Given the description of an element on the screen output the (x, y) to click on. 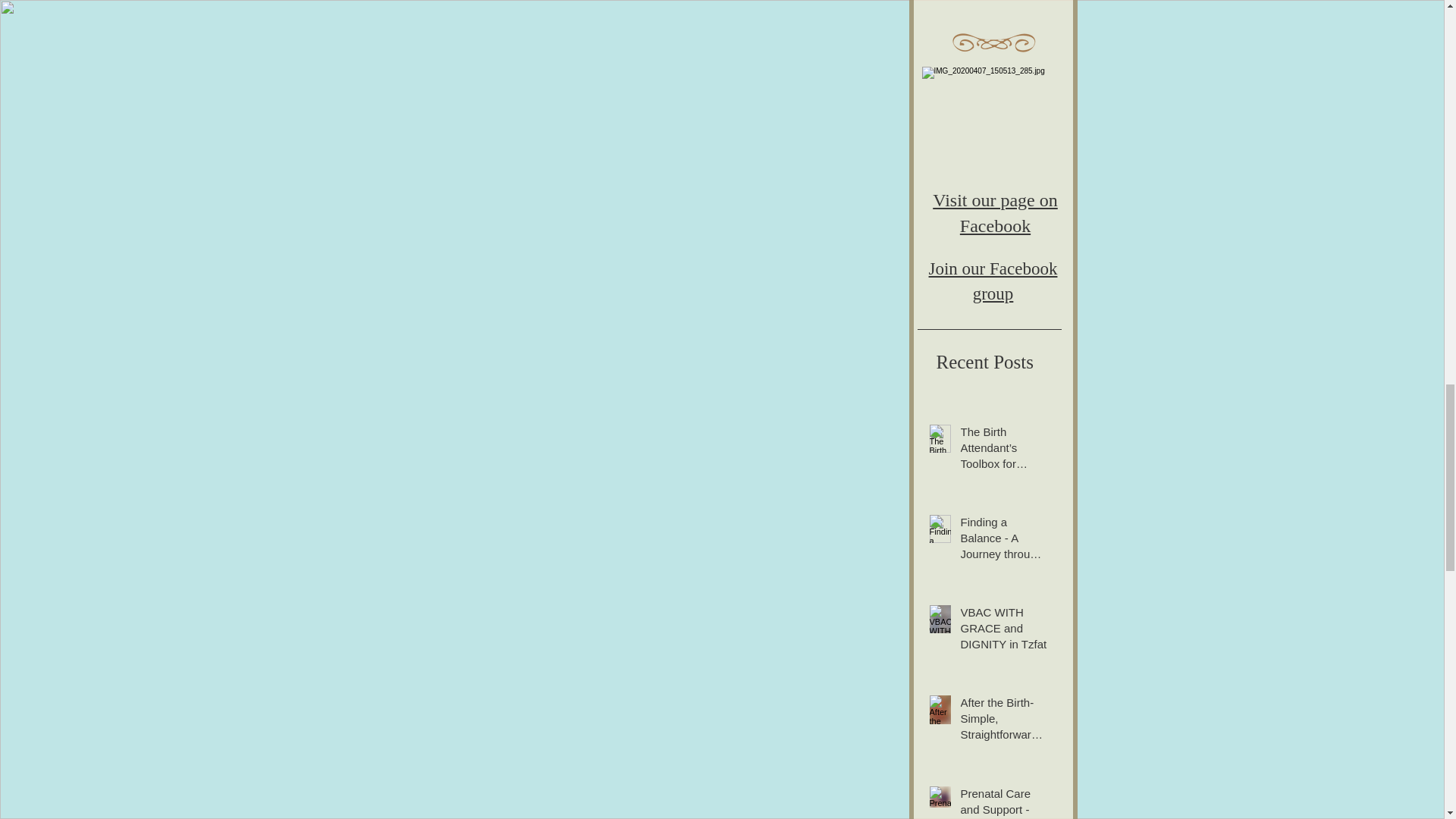
Prenatal Care and Support - What do midwives do? (1002, 802)
Visit our page on Facebook (995, 213)
VBAC WITH GRACE and DIGNITY in Tzfat (1002, 631)
Join our Facebook group (993, 281)
